Given the description of an element on the screen output the (x, y) to click on. 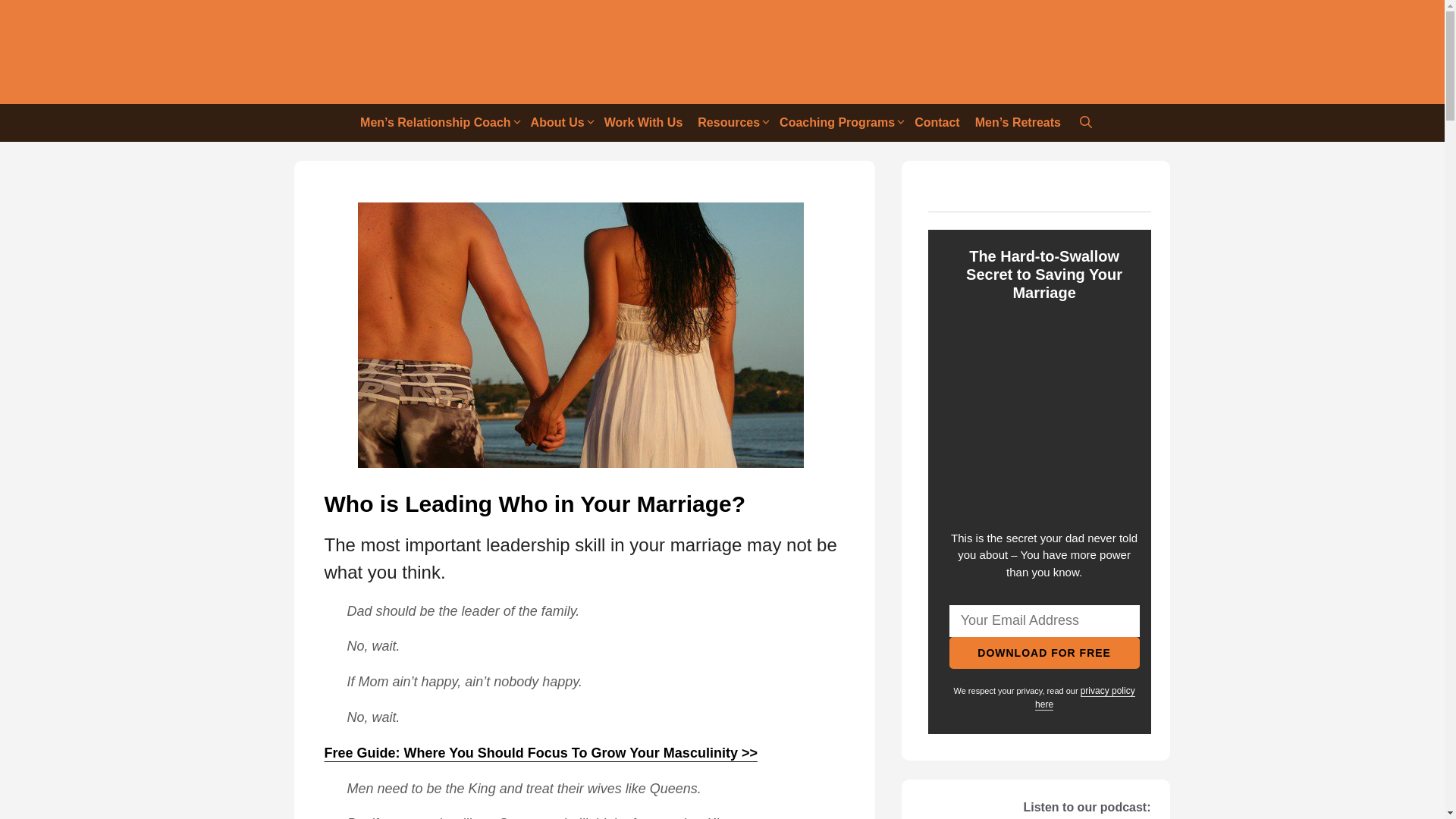
Work With Us (643, 122)
About Us (559, 122)
Privacy Policy (1085, 697)
Resources (730, 122)
Download for Free (1044, 653)
